Given the description of an element on the screen output the (x, y) to click on. 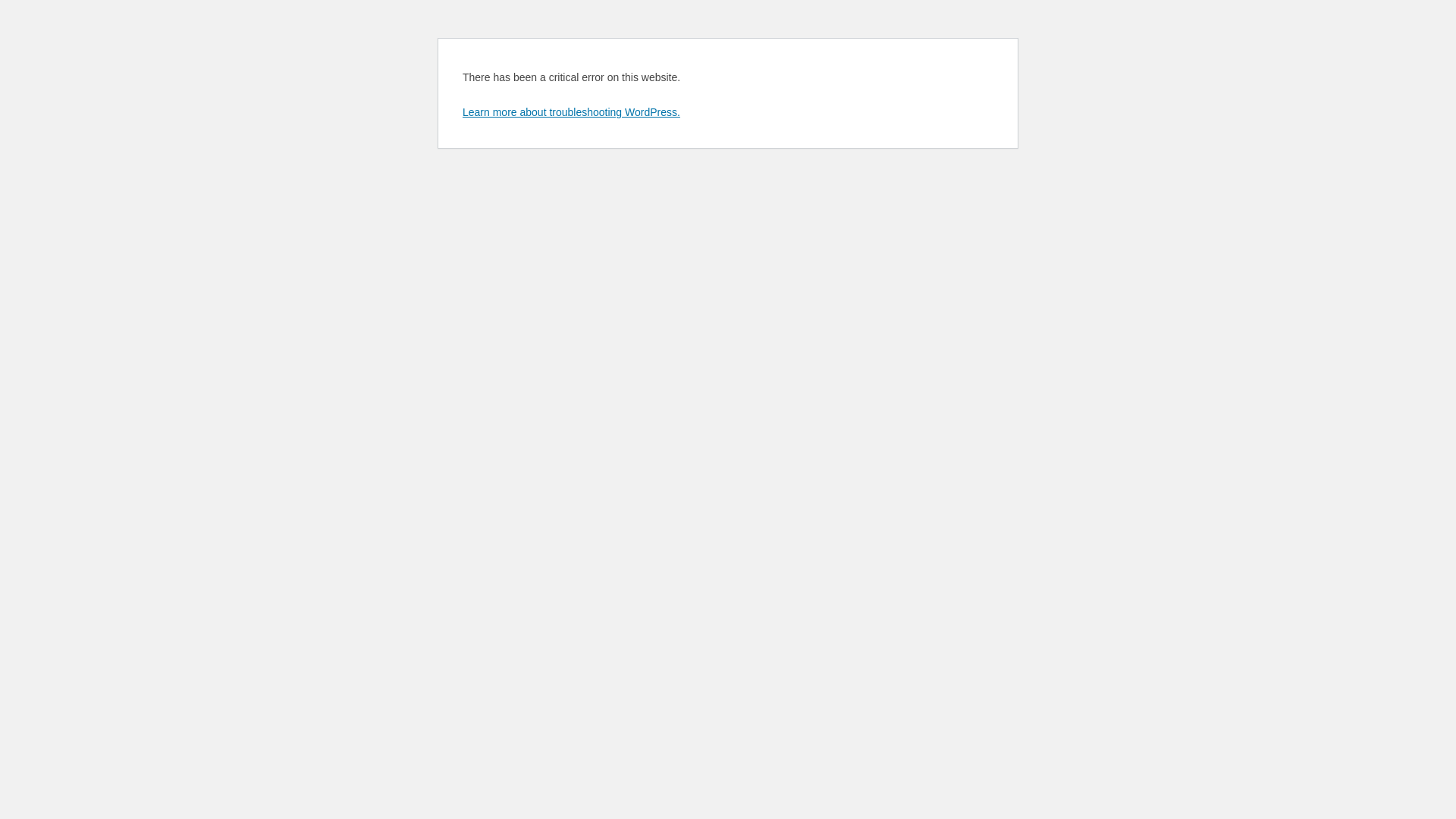
Learn more about troubleshooting WordPress. Element type: text (571, 112)
